Given the description of an element on the screen output the (x, y) to click on. 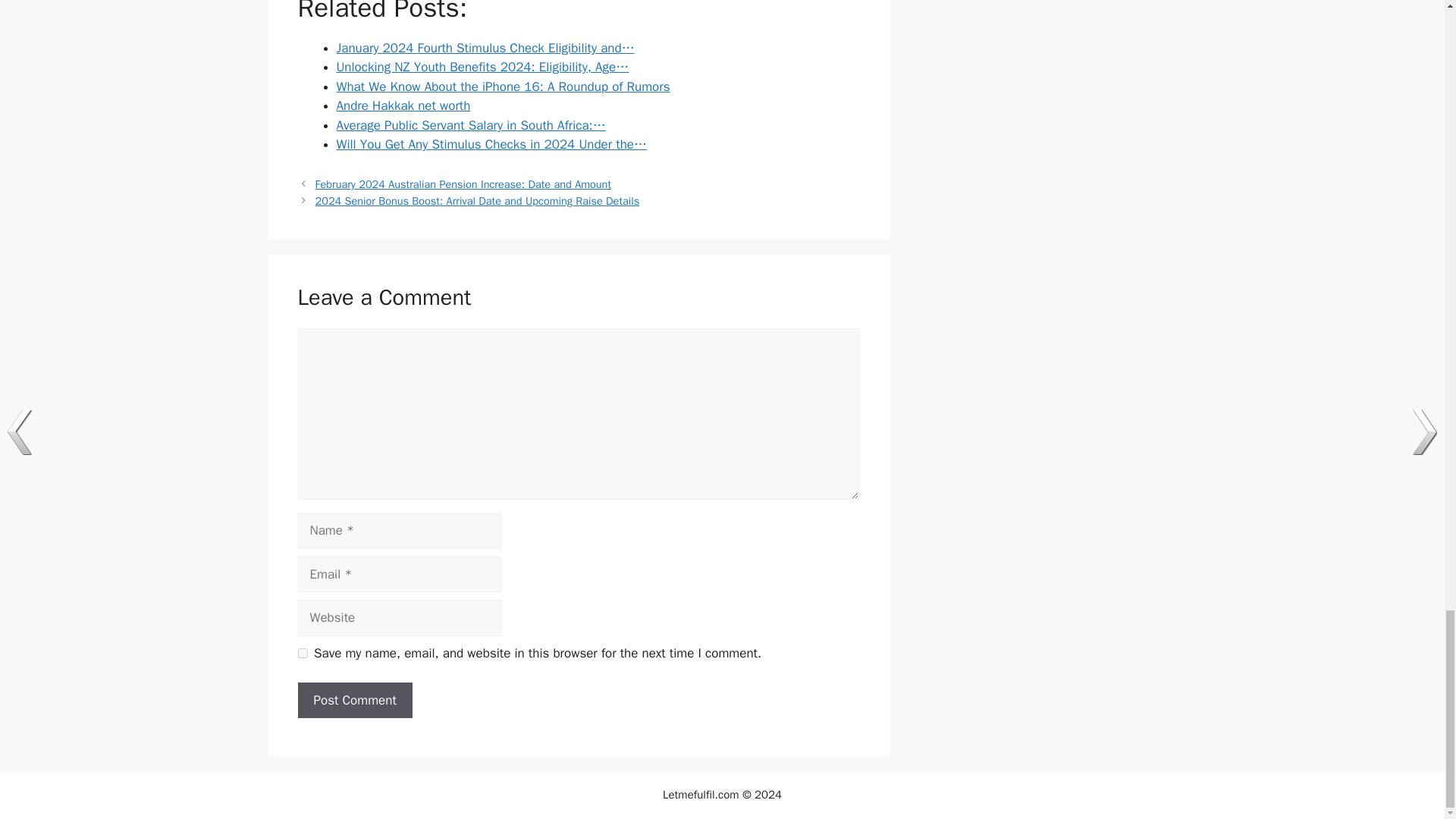
Post Comment (354, 700)
February 2024 Australian Pension Increase: Date and Amount (463, 183)
Andre Hakkak net worth (403, 105)
What We Know About the iPhone 16: A Roundup of Rumors (502, 86)
Post Comment (354, 700)
yes (302, 653)
